Given the description of an element on the screen output the (x, y) to click on. 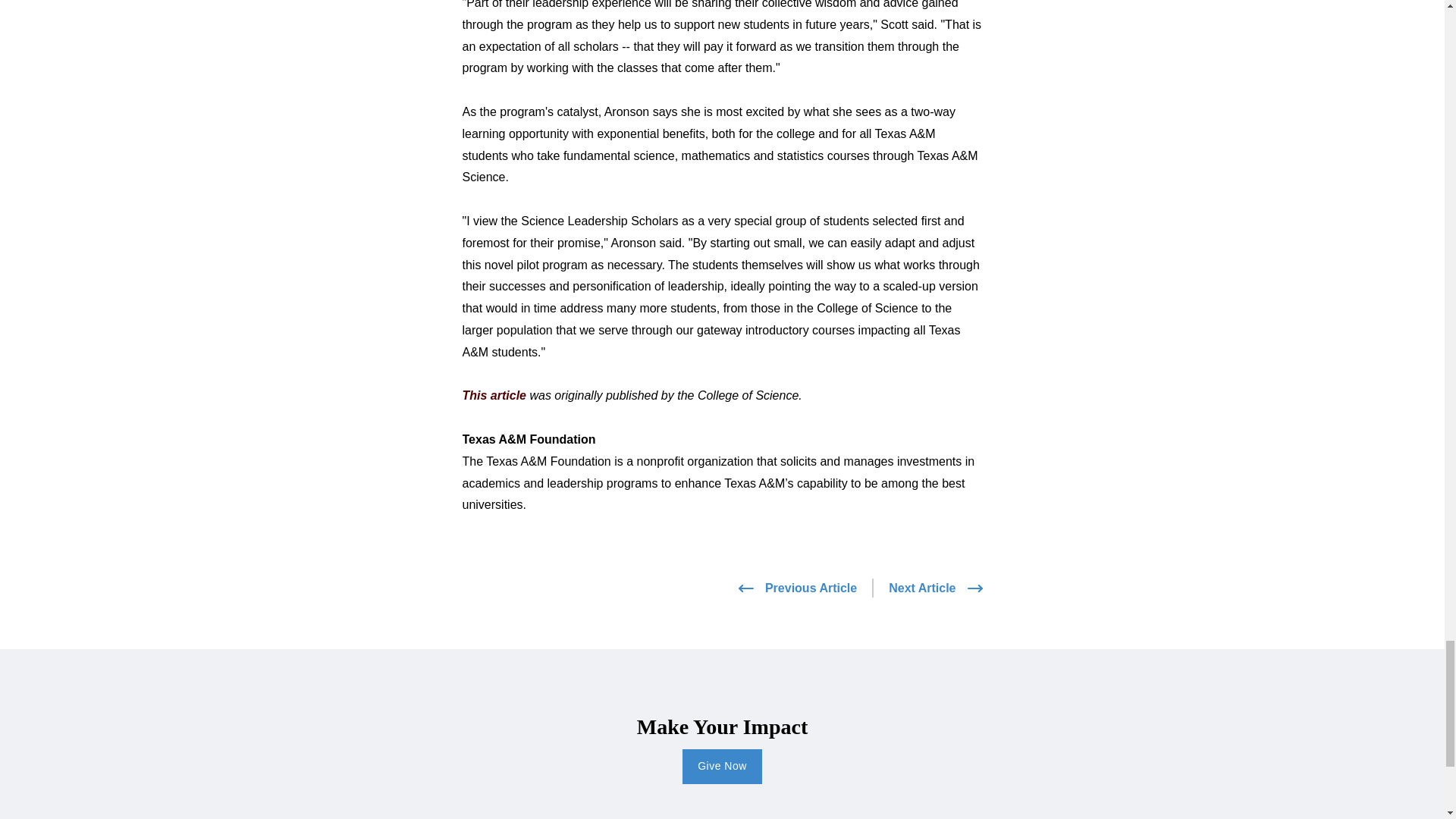
This article (494, 395)
